Given the description of an element on the screen output the (x, y) to click on. 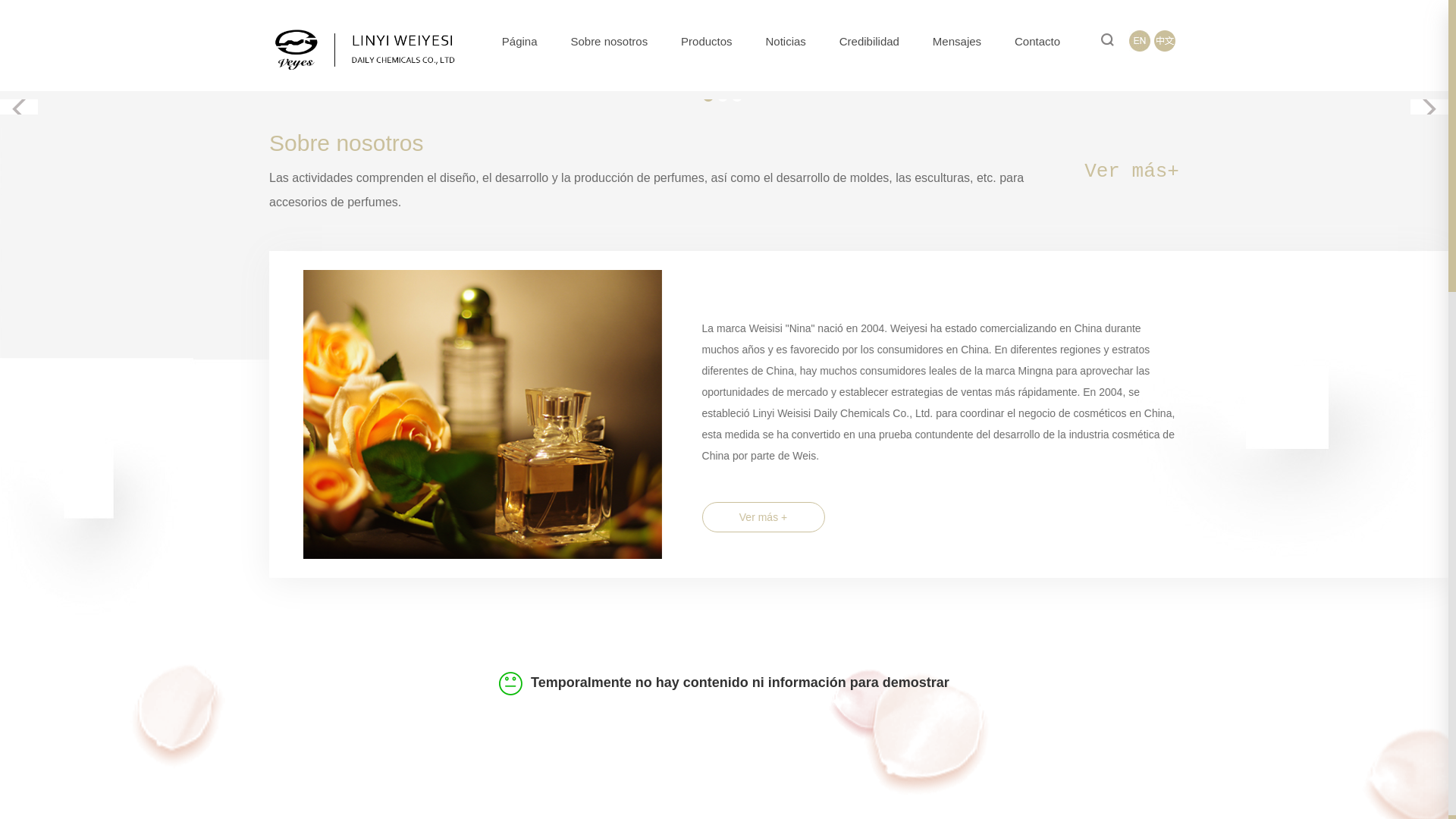
logo Element type: hover (364, 49)
weiyesi Element type: hover (640, 413)
SP Element type: hover (1164, 40)
EN Element type: hover (1139, 40)
